Given the description of an element on the screen output the (x, y) to click on. 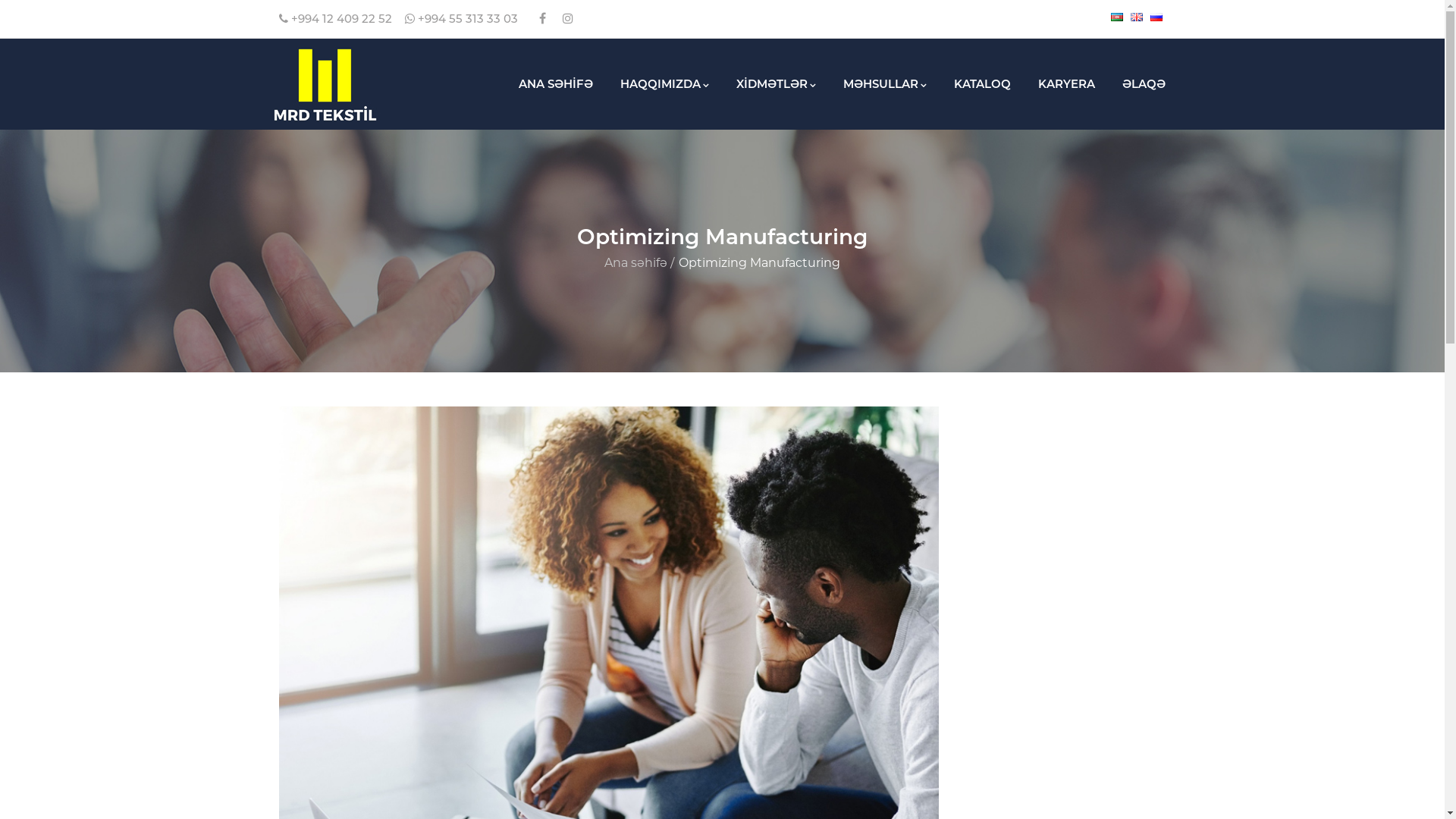
+994 12 409 22 52 Element type: text (335, 18)
KATALOQ Element type: text (982, 83)
KARYERA Element type: text (1066, 83)
+994 55 313 33 03 Element type: text (460, 18)
HAQQIMIZDA Element type: text (664, 83)
